Given the description of an element on the screen output the (x, y) to click on. 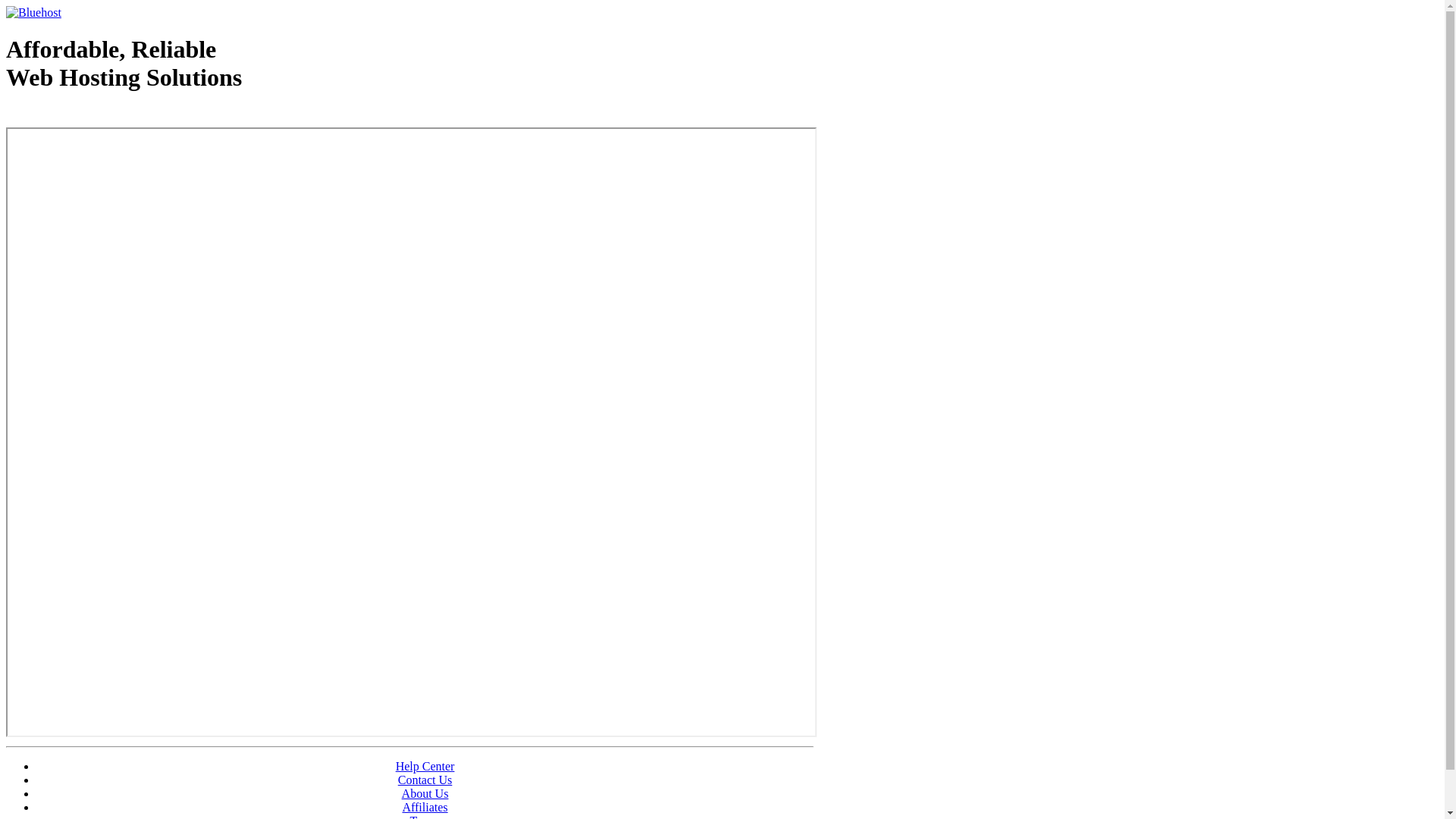
Contact Us Element type: text (425, 779)
Affiliates Element type: text (424, 806)
Help Center Element type: text (425, 765)
Web Hosting - courtesy of www.bluehost.com Element type: text (94, 115)
About Us Element type: text (424, 793)
